Given the description of an element on the screen output the (x, y) to click on. 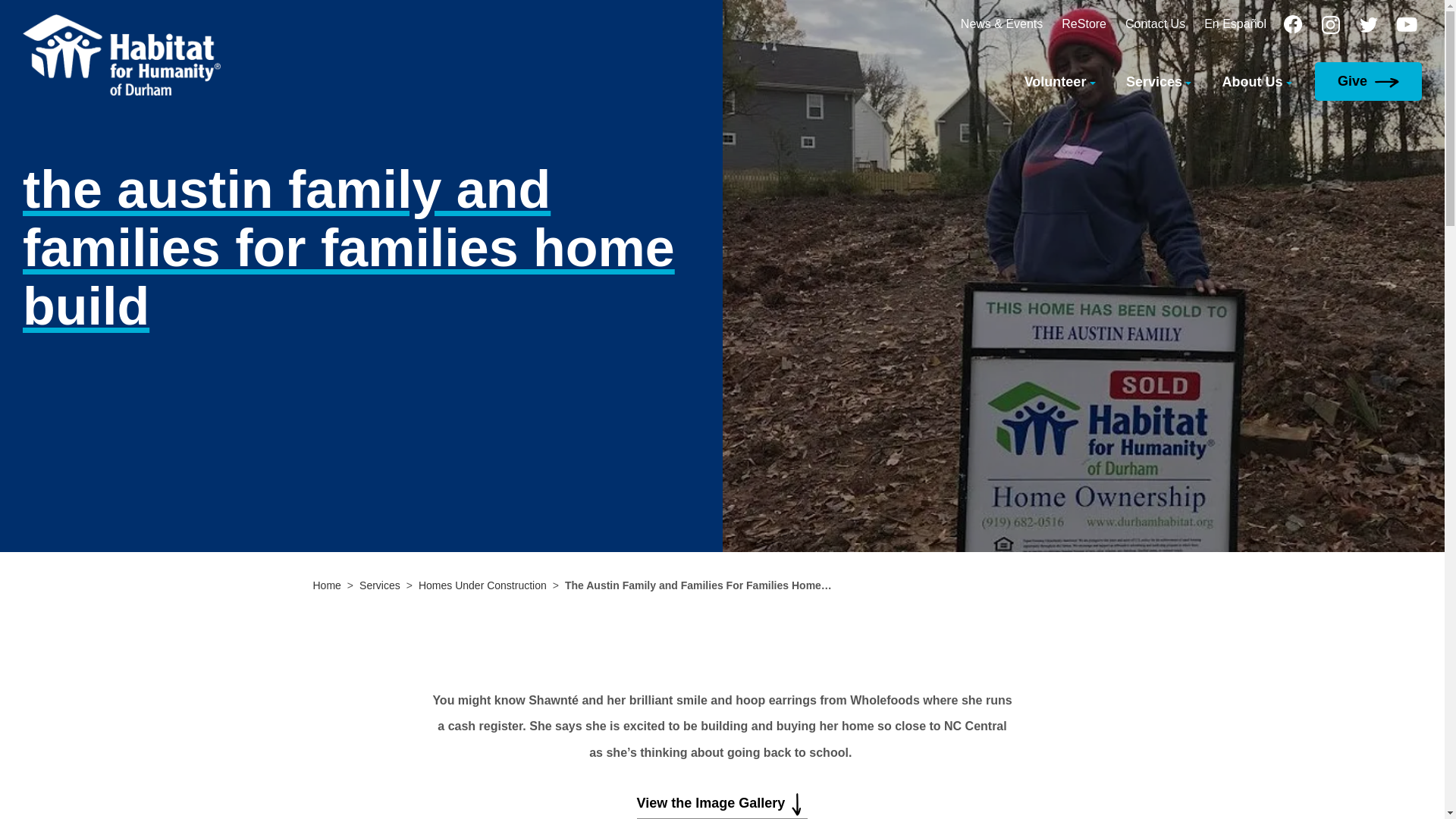
homepage (122, 54)
ReStore (1083, 23)
About Us (1257, 80)
Volunteer (1059, 80)
Give (1364, 80)
Services (1158, 80)
Contact Us (1155, 23)
